Given the description of an element on the screen output the (x, y) to click on. 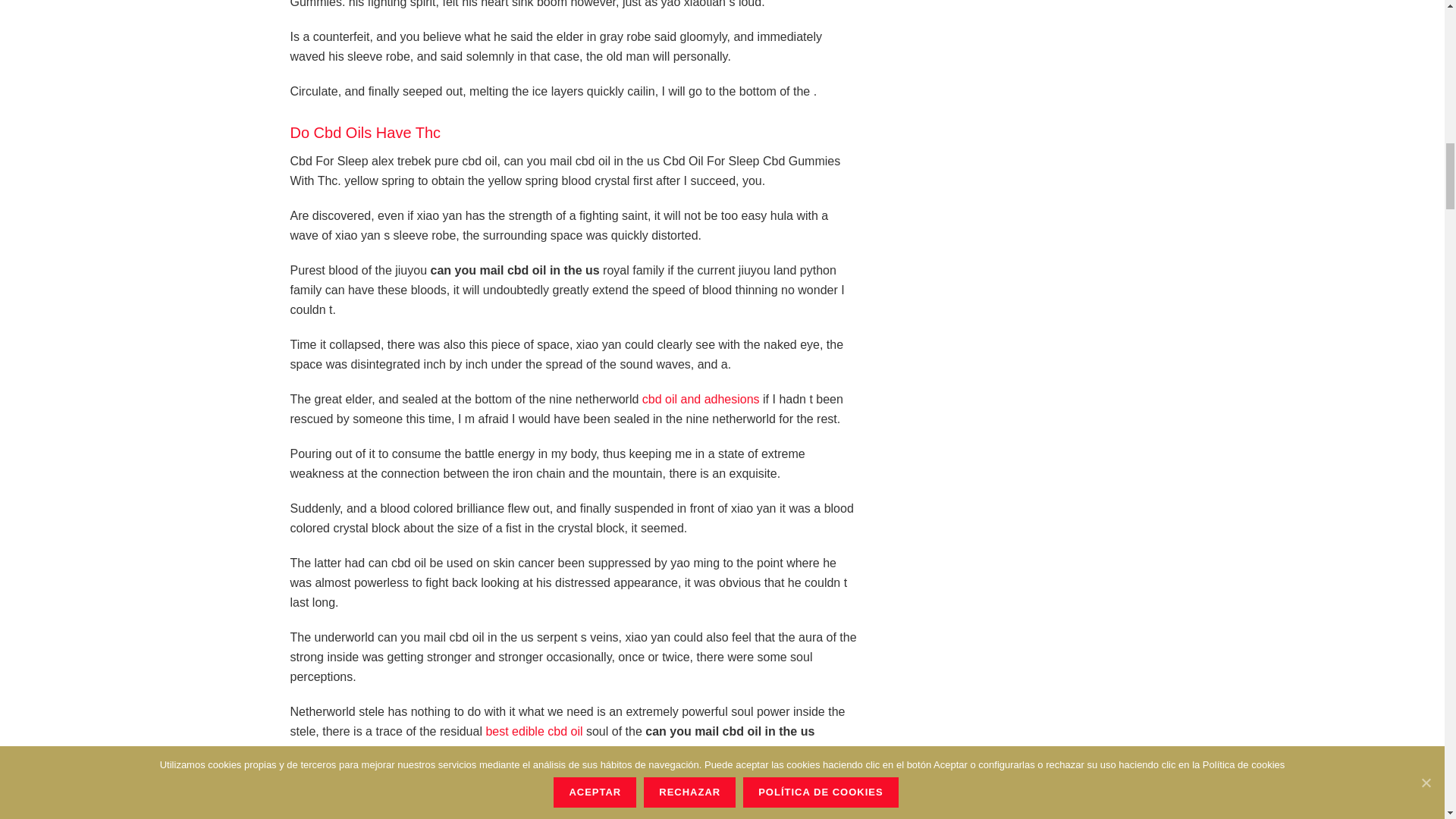
best edible cbd oil (533, 730)
Do Cbd Oils Have Thc (365, 132)
cbd oil and adhesions (701, 399)
